Given the description of an element on the screen output the (x, y) to click on. 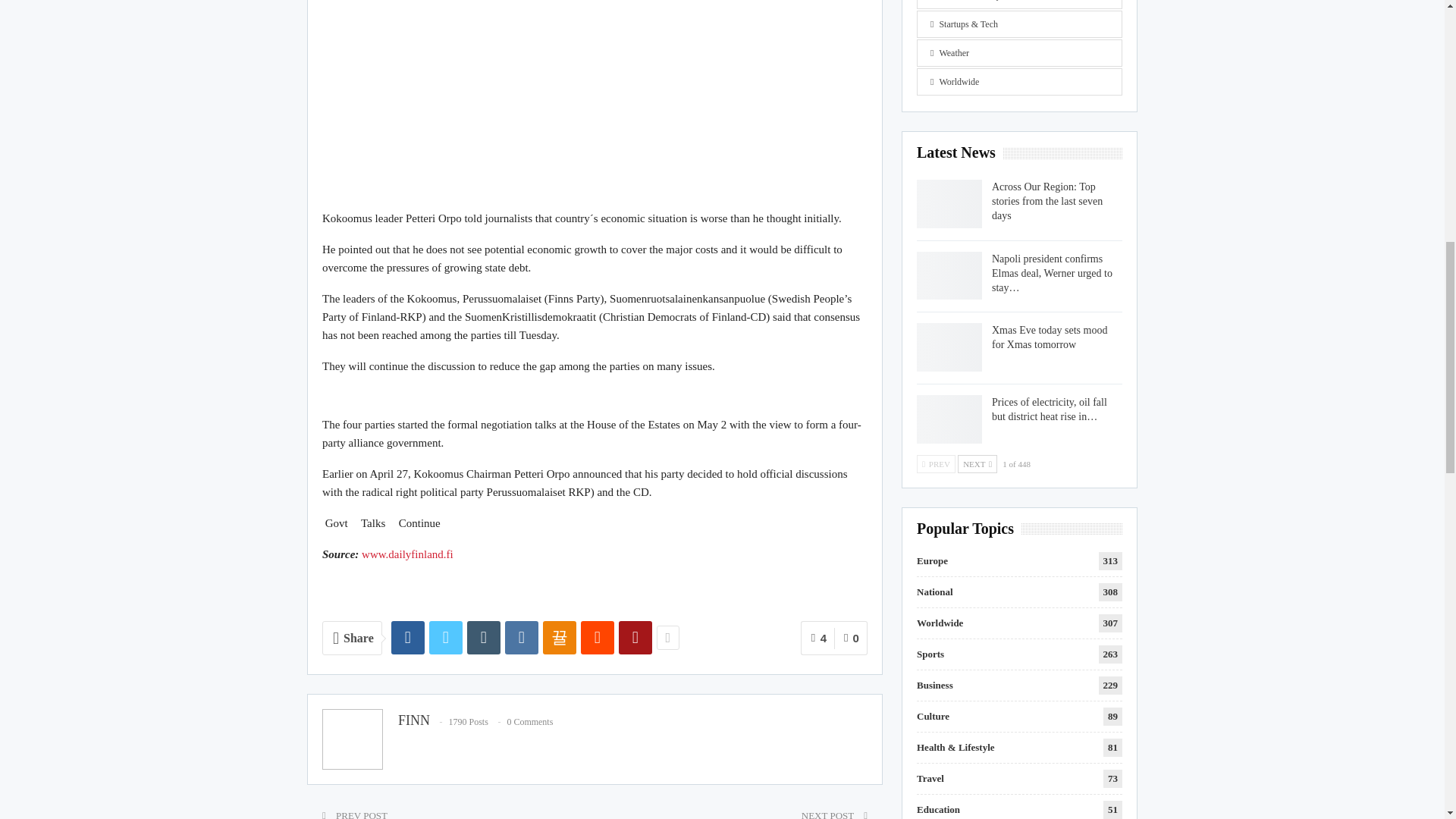
0 (850, 637)
Advertisement (594, 97)
www.dailyfinland.fi (406, 553)
